Given the description of an element on the screen output the (x, y) to click on. 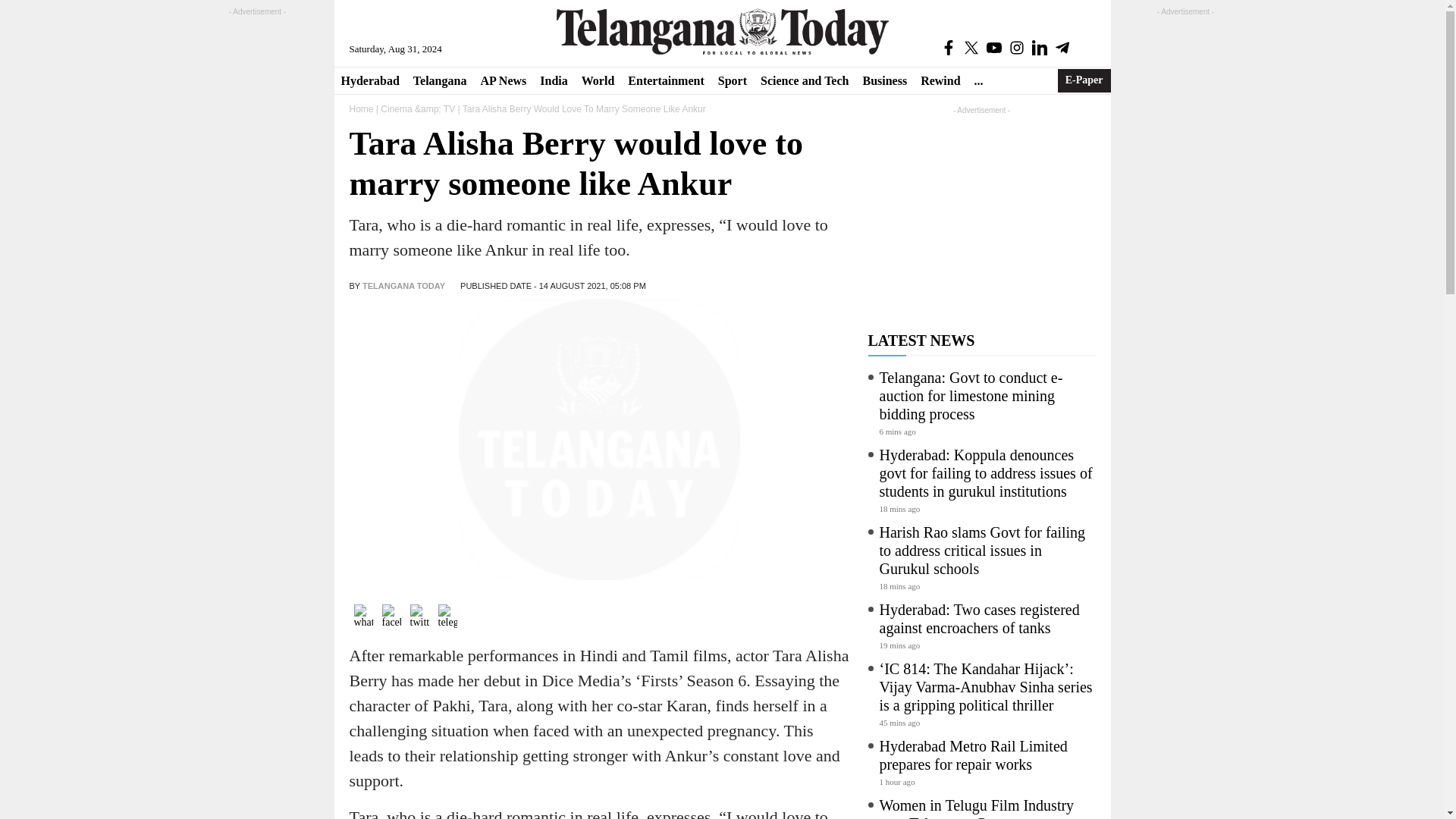
Sport (732, 80)
Home (360, 109)
Hyderabad (369, 80)
TELANGANA TODAY (403, 285)
English News (722, 31)
Entertainment (665, 80)
Rewind (940, 80)
Science and Tech (805, 80)
Hyderabad (369, 80)
Science and Tech (805, 80)
